Given the description of an element on the screen output the (x, y) to click on. 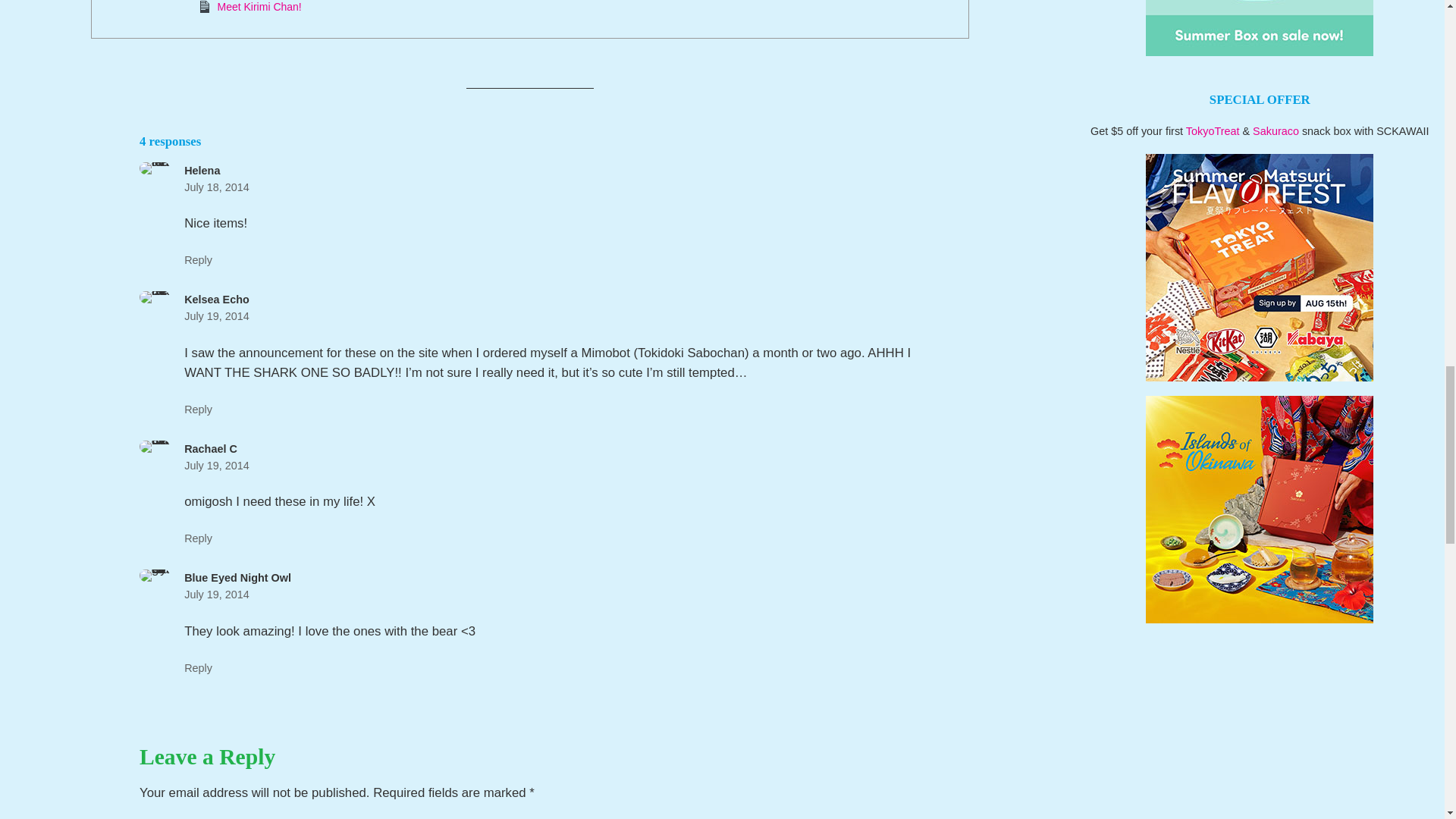
Meet Kirimi Chan! (258, 6)
